Given the description of an element on the screen output the (x, y) to click on. 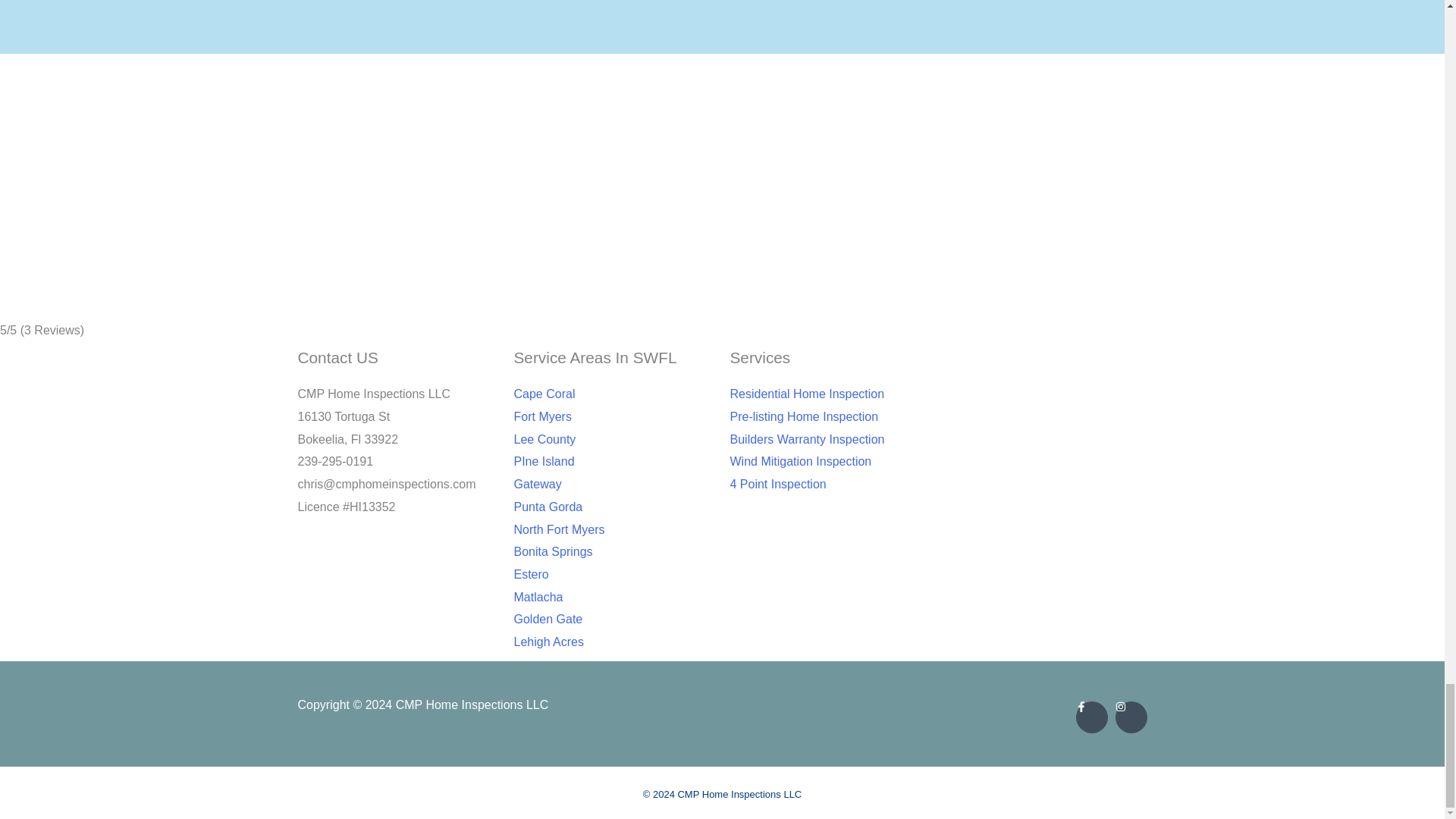
Punta Gorda (613, 507)
Estero (613, 574)
Cape Coral (613, 394)
Gateway (613, 484)
Lee County (613, 439)
PIne Island (613, 461)
North Fort Myers (613, 529)
Fort Myers (613, 416)
Bonita Springs (613, 551)
